Given the description of an element on the screen output the (x, y) to click on. 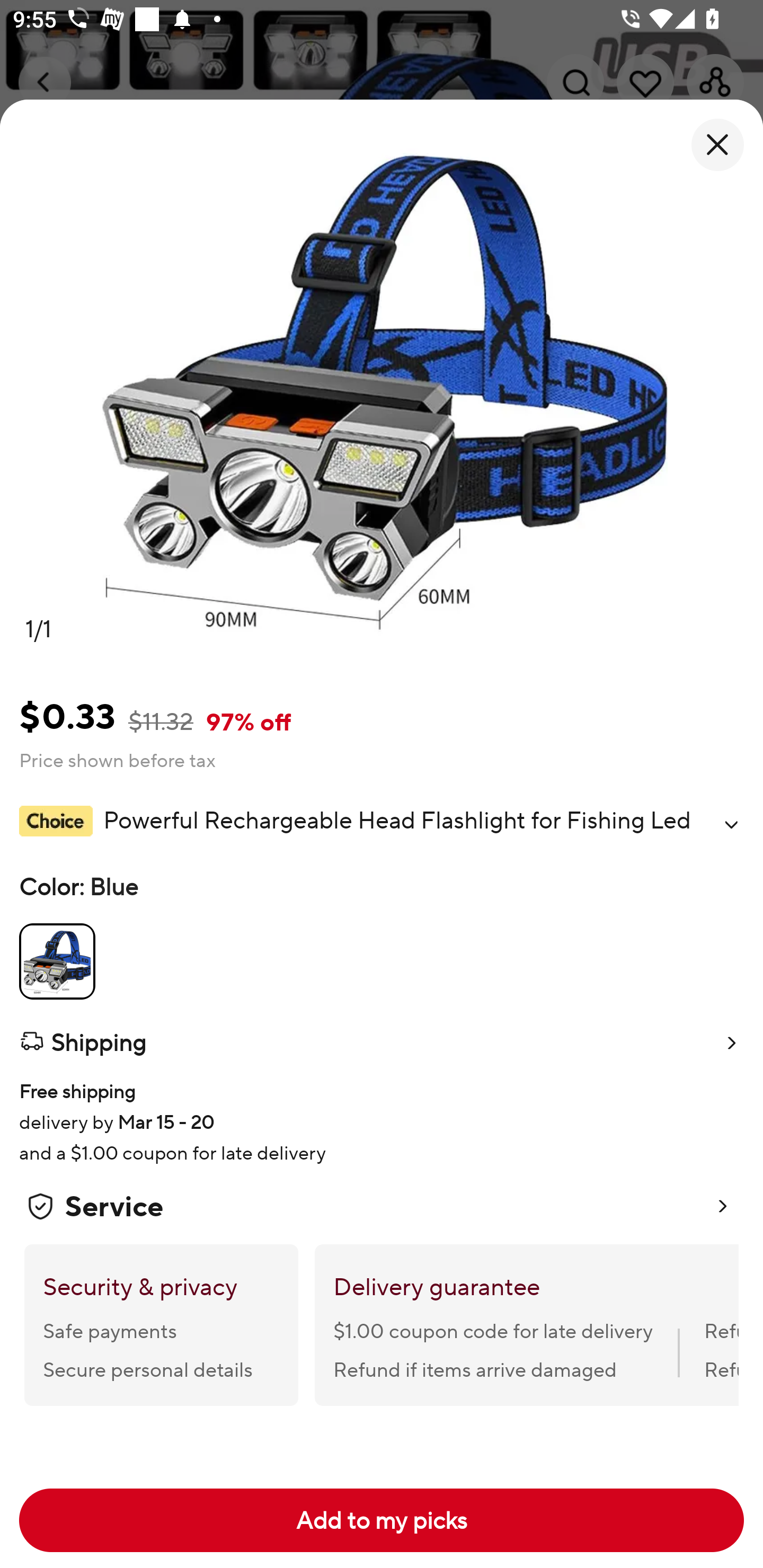
close  (717, 144)
 (730, 824)
Add to my picks (381, 1520)
